Given the description of an element on the screen output the (x, y) to click on. 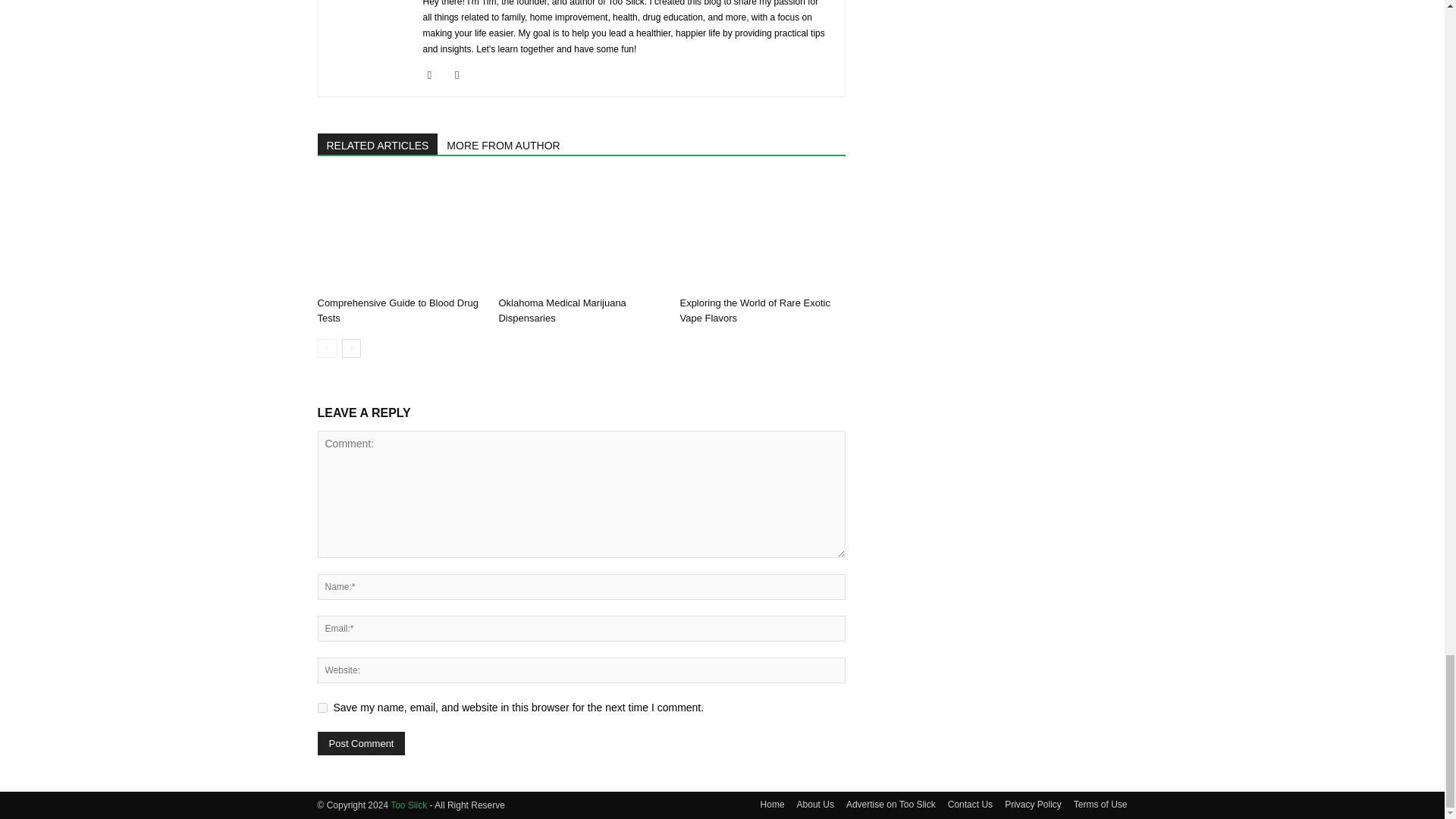
Post Comment (360, 743)
yes (321, 707)
